Given the description of an element on the screen output the (x, y) to click on. 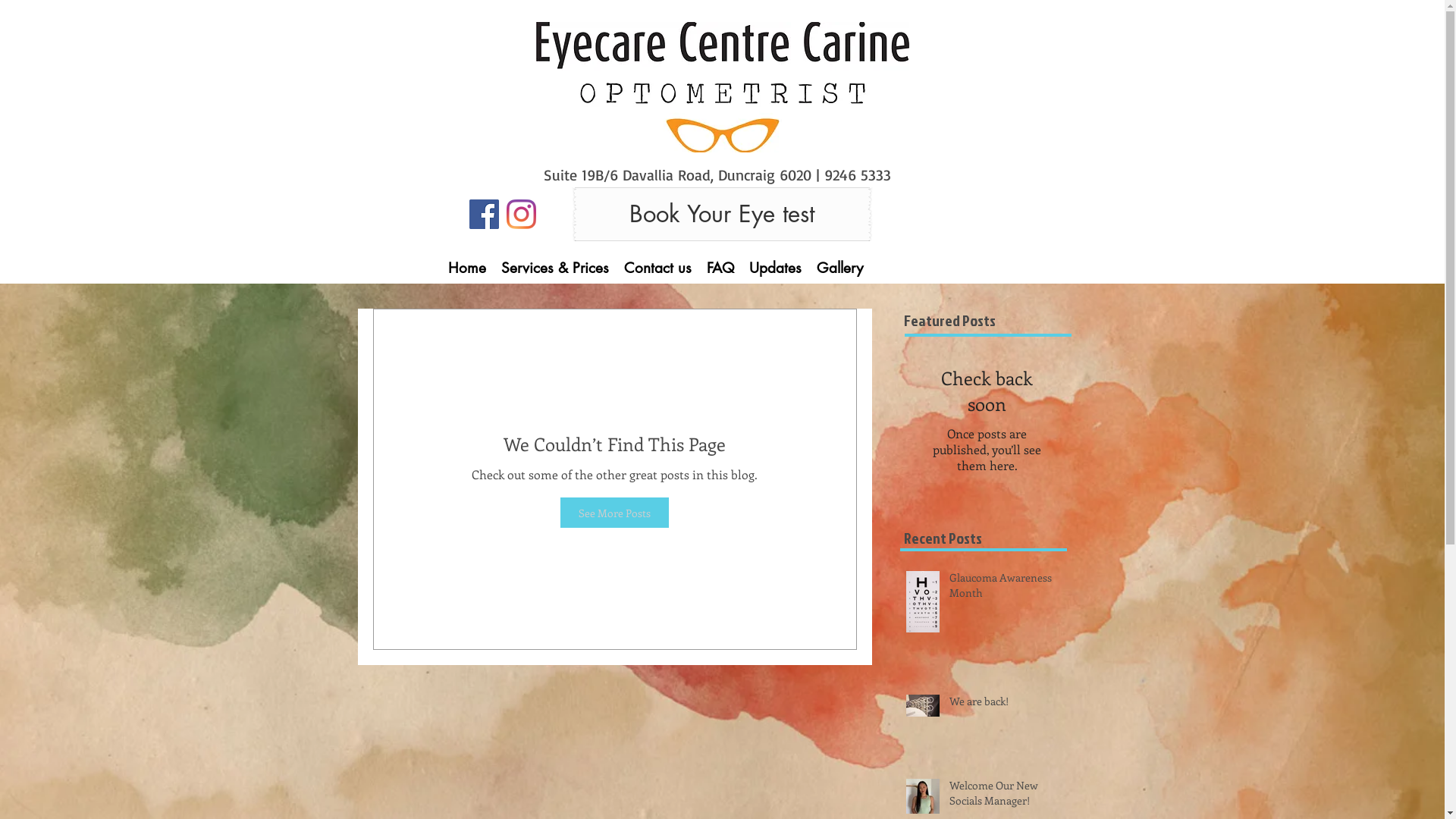
Book Your Eye test Element type: text (721, 214)
Welcome Our New Socials Manager! Element type: text (1009, 795)
See More Posts Element type: text (614, 512)
Contact us Element type: text (656, 267)
Glaucoma Awareness Month Element type: text (1009, 587)
Home Element type: text (465, 267)
Services & Prices Element type: text (553, 267)
FAQ Element type: text (720, 267)
Gallery Element type: text (838, 267)
We are back! Element type: text (1009, 704)
Updates Element type: text (775, 267)
